Given the description of an element on the screen output the (x, y) to click on. 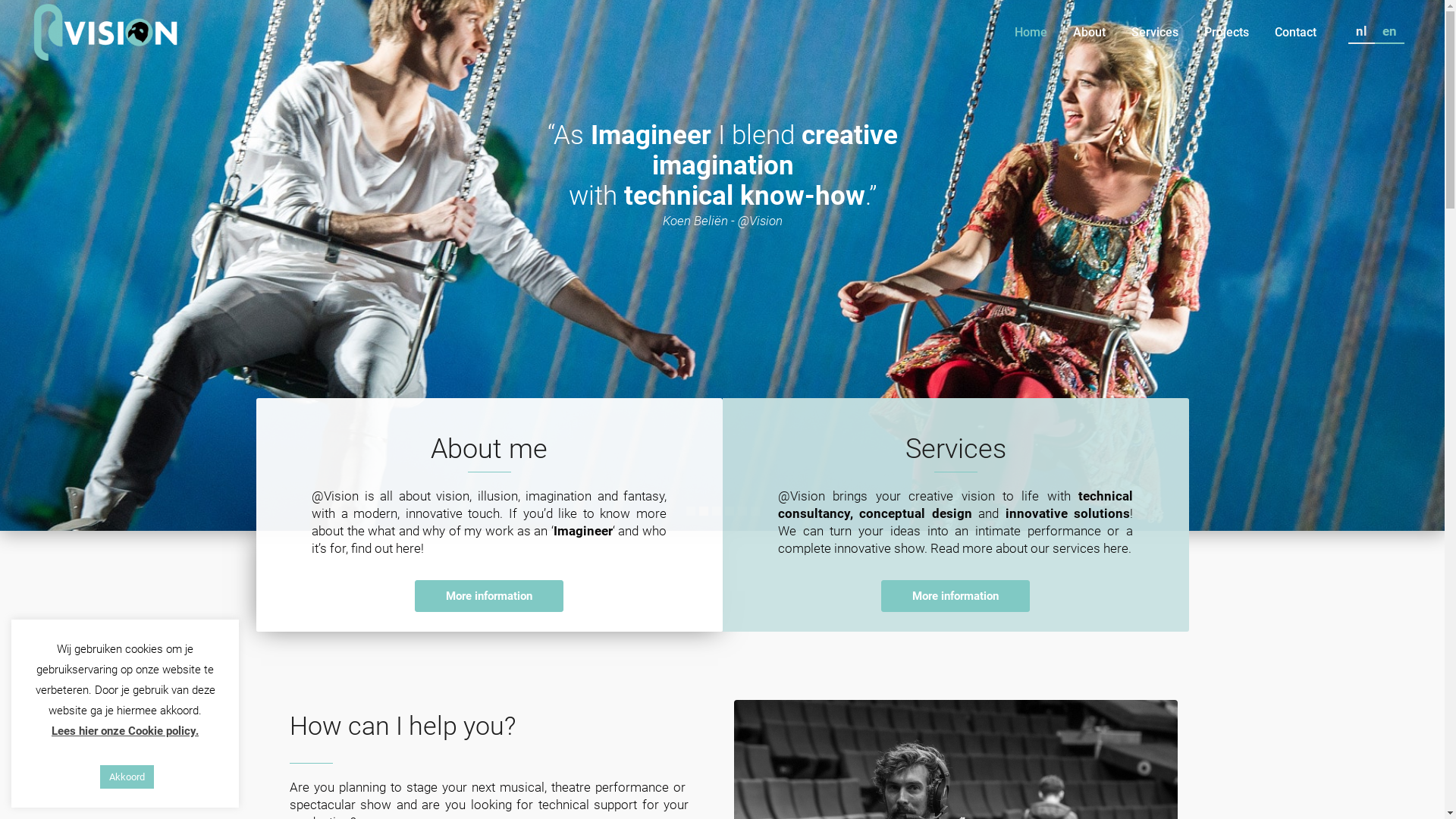
About Element type: text (1089, 32)
Akkoord Element type: text (126, 776)
Home Element type: text (1030, 32)
Projects Element type: text (1226, 32)
en Element type: text (1389, 31)
Lees hier onze Cookie policy. Element type: text (124, 730)
Services Element type: text (1154, 32)
Contact Element type: text (1295, 32)
nl Element type: text (1361, 31)
More information Element type: text (488, 595)
More information Element type: text (955, 595)
